Given the description of an element on the screen output the (x, y) to click on. 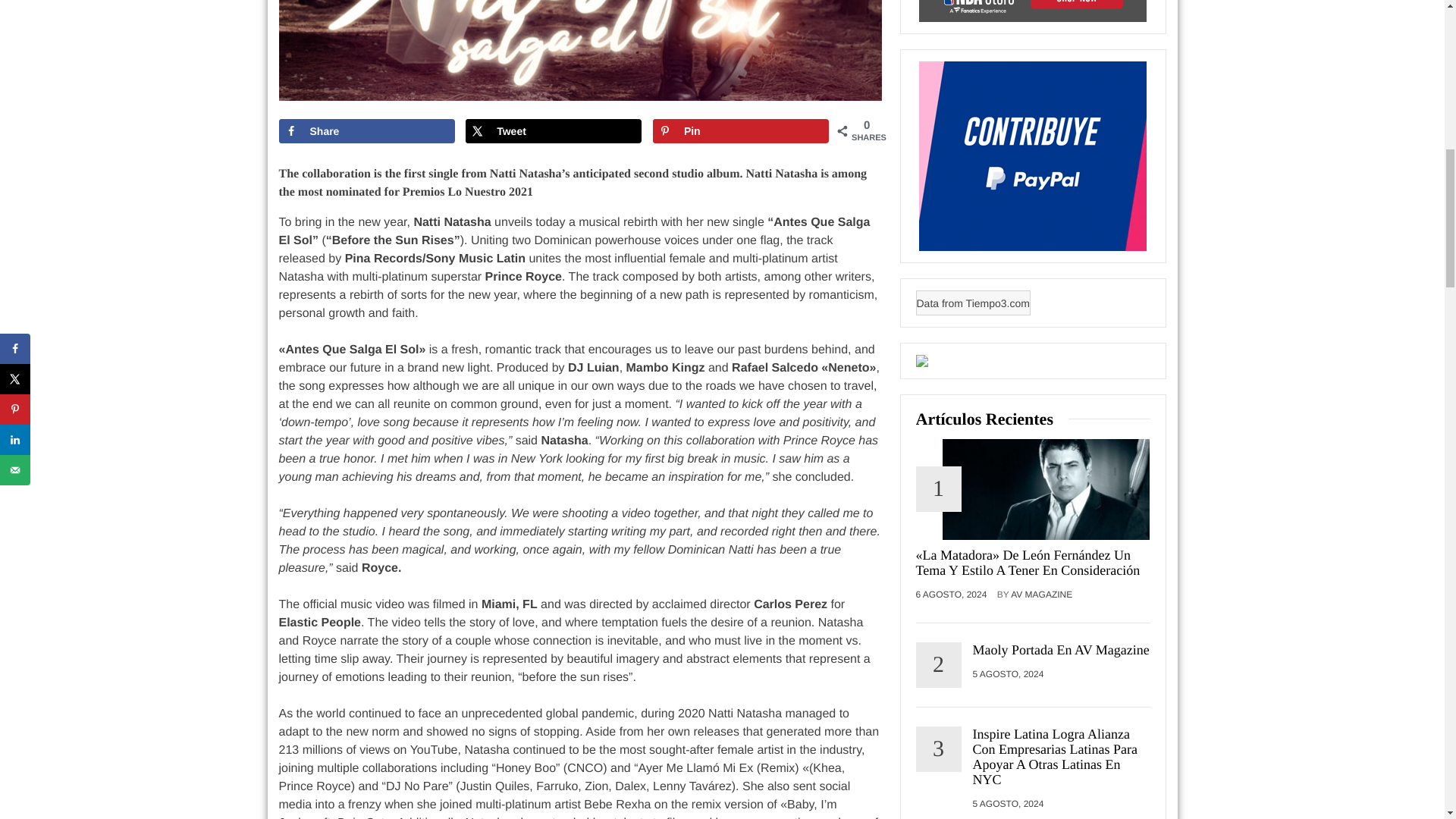
Share (366, 130)
Tweet (553, 130)
Share on Facebook (366, 130)
Save to Pinterest (740, 130)
Pin (740, 130)
Share on X (553, 130)
